Given the description of an element on the screen output the (x, y) to click on. 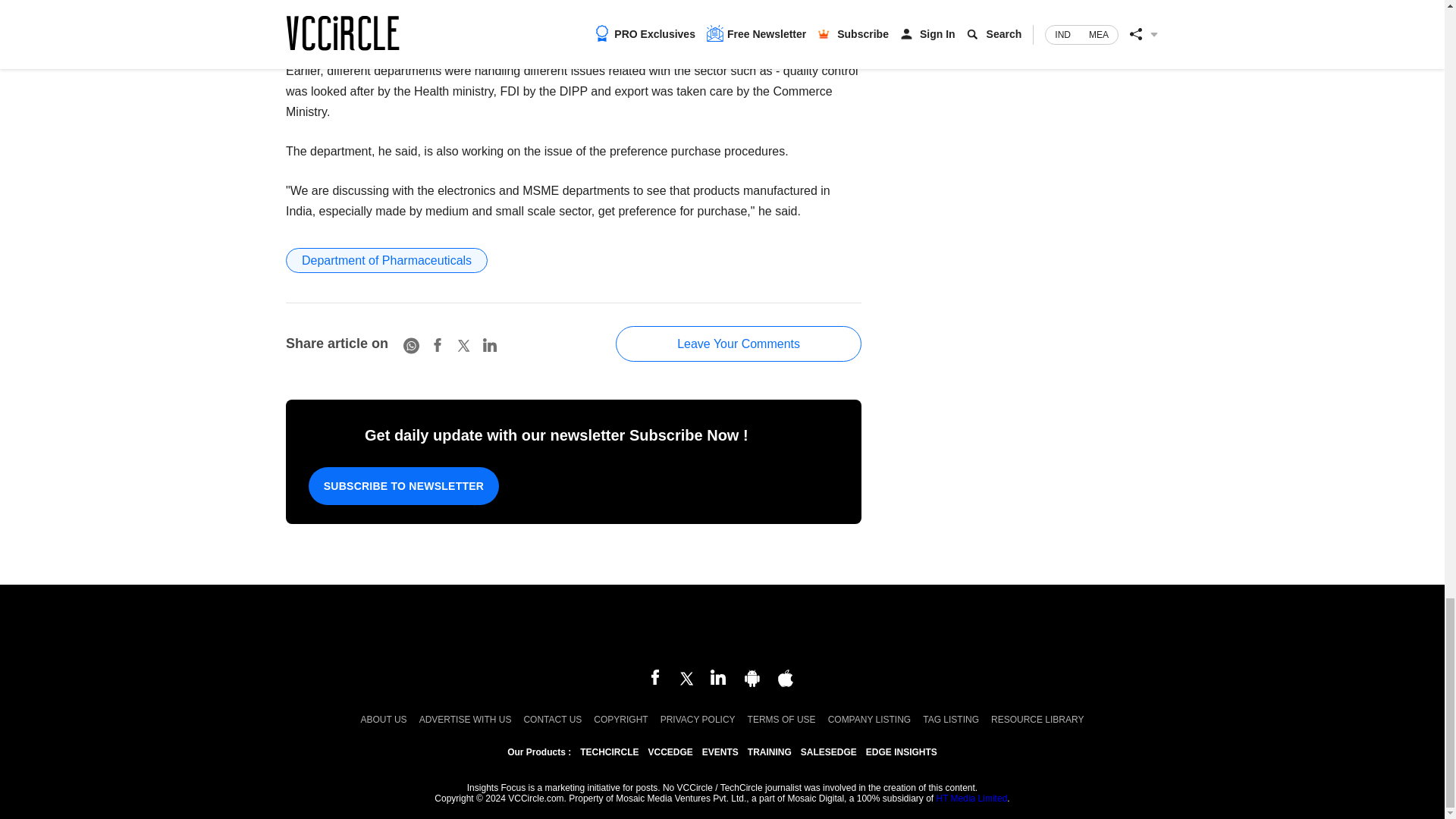
SUBSCRIBE TO NEWSLETTER (403, 485)
Mosaic Digital (721, 628)
Leave Your Comments (738, 343)
Department of Pharmaceuticals (386, 260)
